Given the description of an element on the screen output the (x, y) to click on. 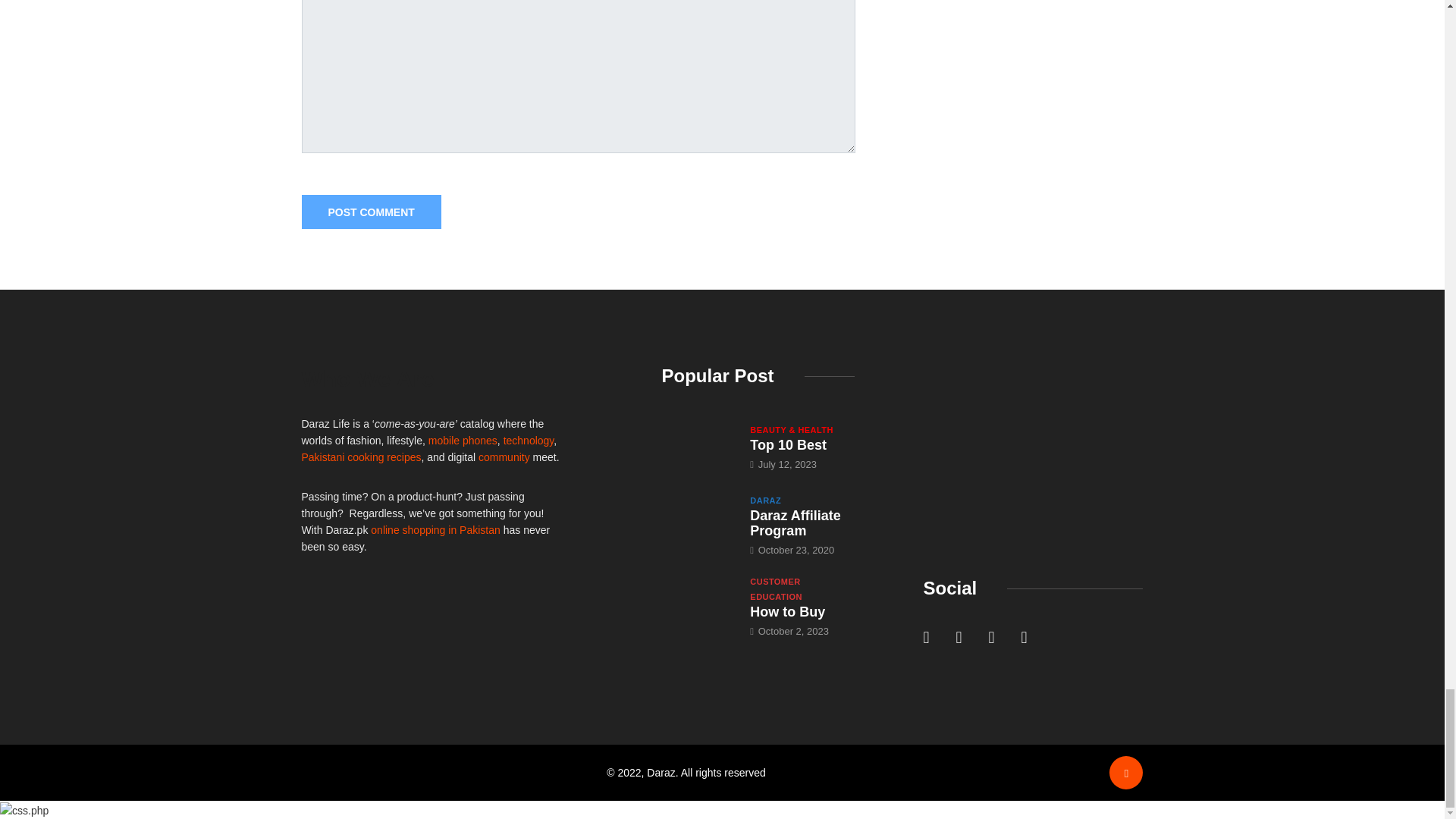
Daraz Affiliate Program in Pakistan (698, 520)
Top 10 Best Whitening Facial Kit in Pakistan 2023 (698, 445)
How to Buy on Installments from Daraz (787, 611)
Top 10 Best Whitening Facial Kit in Pakistan 2023 (788, 444)
Post Comment (371, 211)
Daraz Affiliate Program in Pakistan (794, 522)
How to Buy on Installments from Daraz (698, 603)
